Given the description of an element on the screen output the (x, y) to click on. 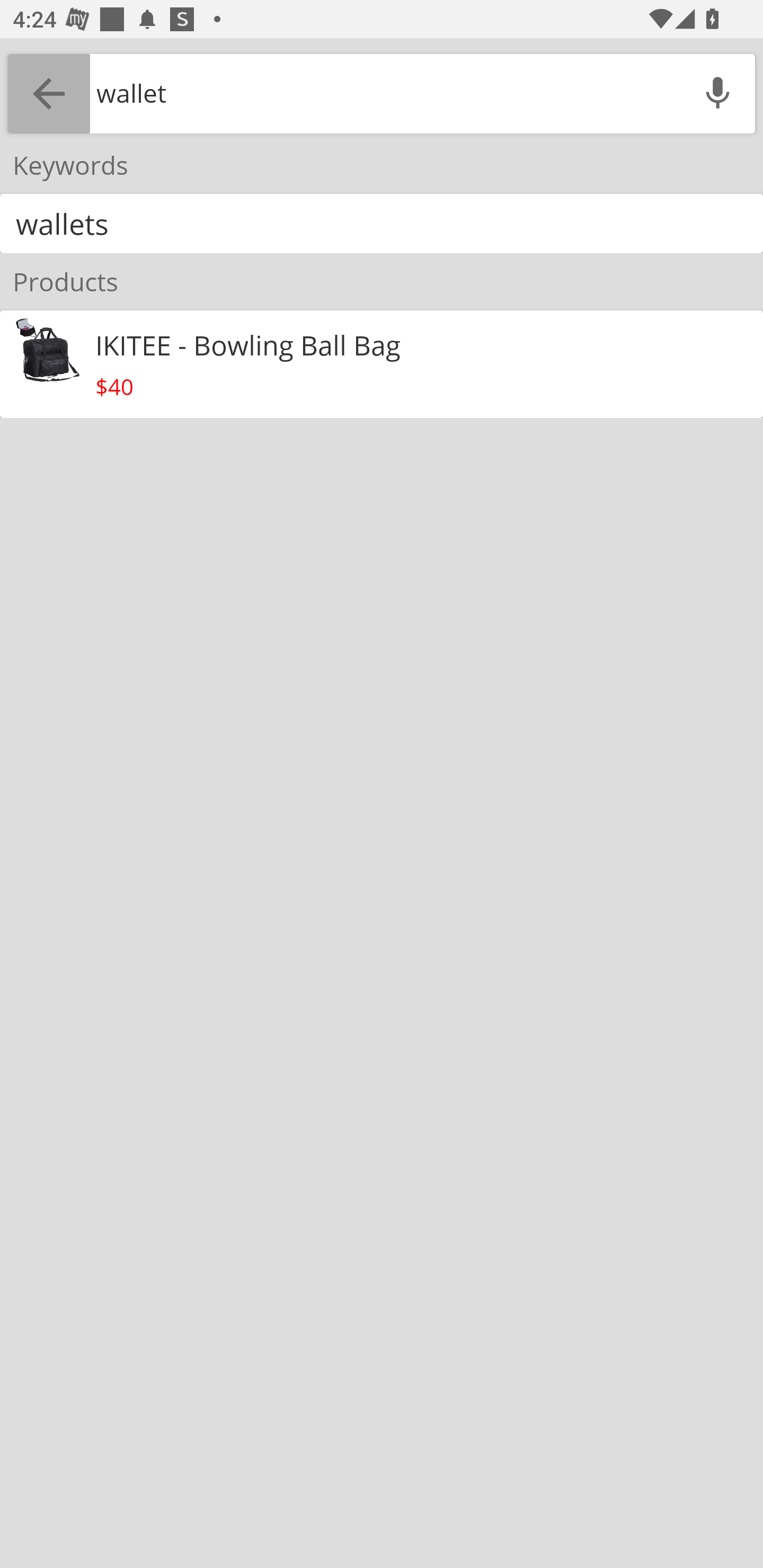
wallet (385, 93)
wallets (381, 223)
IKITEE - Bowling Ball Bag $40 (381, 364)
